Given the description of an element on the screen output the (x, y) to click on. 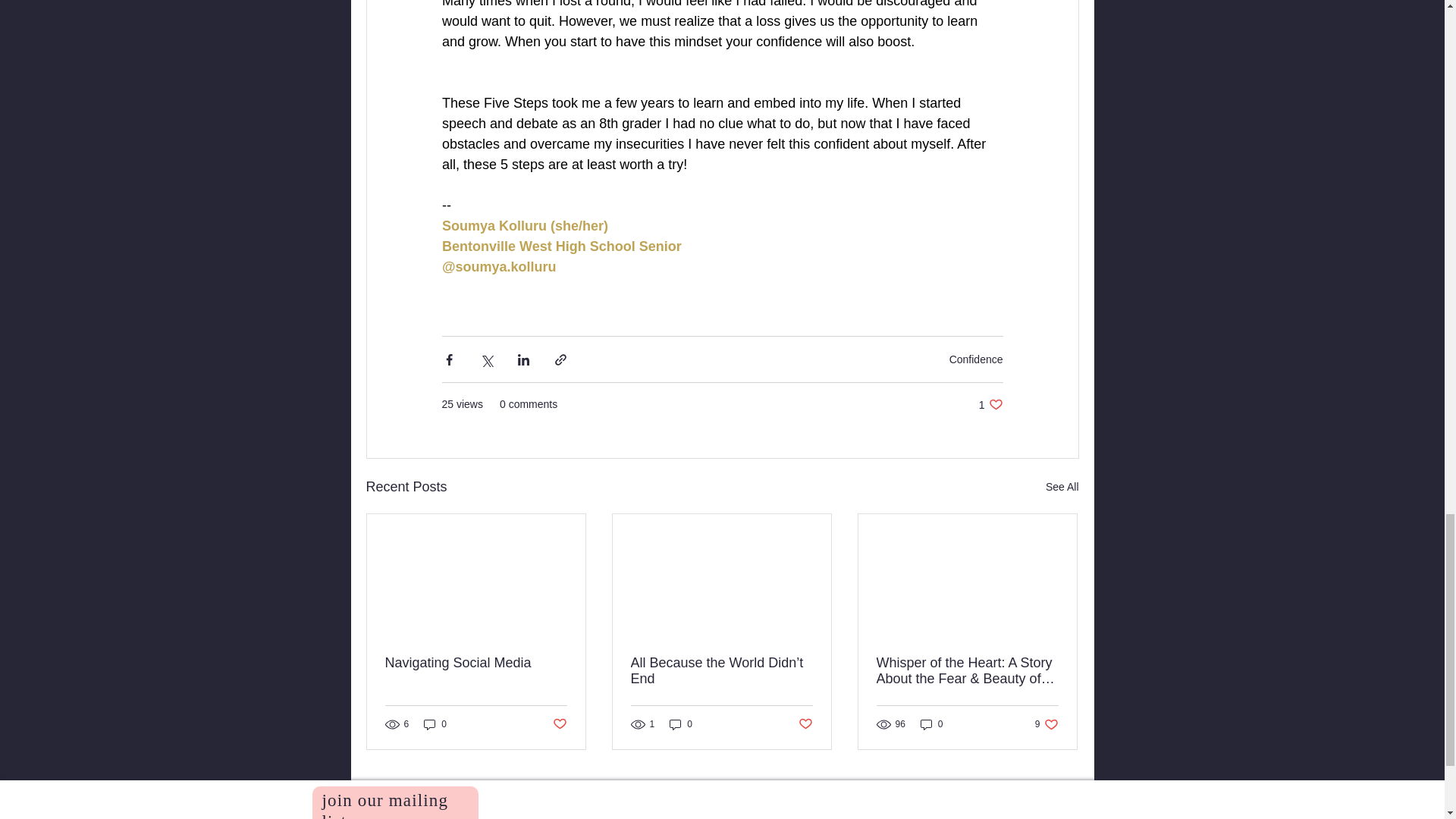
Confidence (976, 358)
See All (1061, 486)
Post not marked as liked (804, 723)
0 (435, 724)
Navigating Social Media (990, 404)
0 (476, 662)
Post not marked as liked (681, 724)
